Given the description of an element on the screen output the (x, y) to click on. 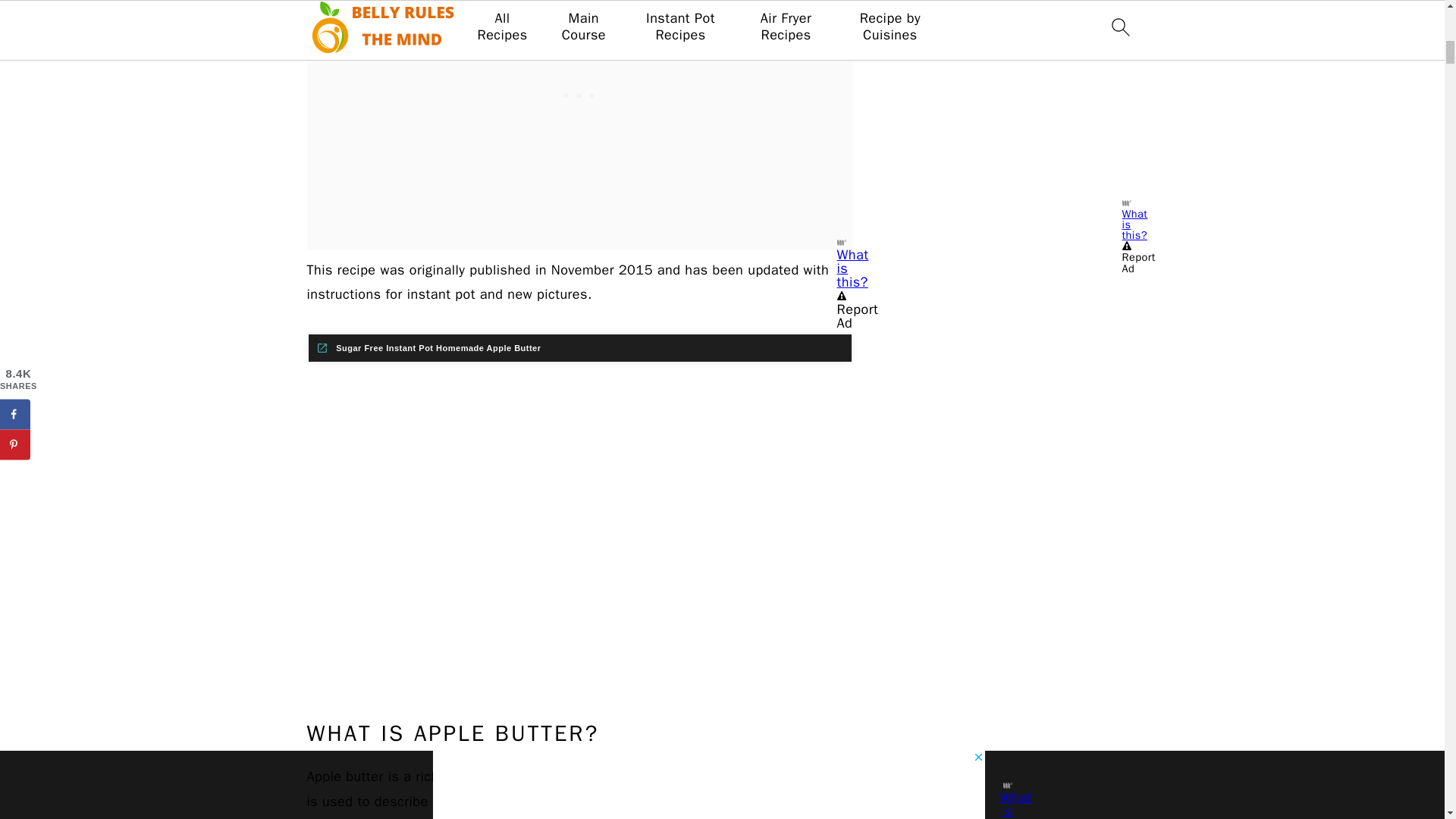
3rd party ad content (579, 53)
